Given the description of an element on the screen output the (x, y) to click on. 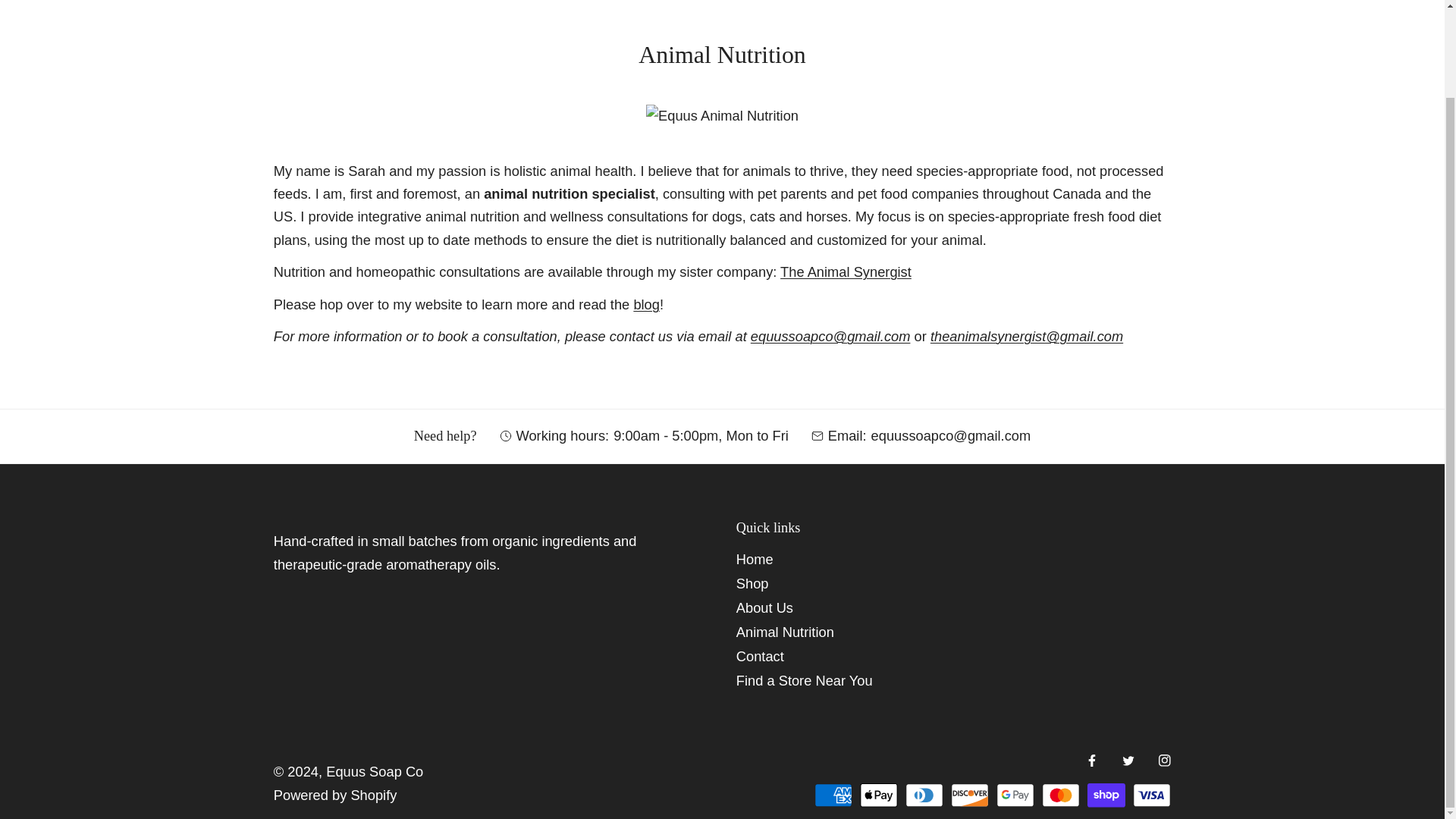
The Animal Synergist (845, 271)
Twitter (1128, 760)
blog (646, 303)
Facebook (1091, 760)
Shop (752, 583)
Find a Store Near You (804, 680)
Twitter (1128, 760)
Instagram (1164, 760)
Powered by Shopify (335, 795)
Animal Nutrition (785, 631)
Instagram (1164, 760)
Contact (760, 656)
About Us (764, 607)
Facebook (1091, 760)
Home (754, 559)
